Given the description of an element on the screen output the (x, y) to click on. 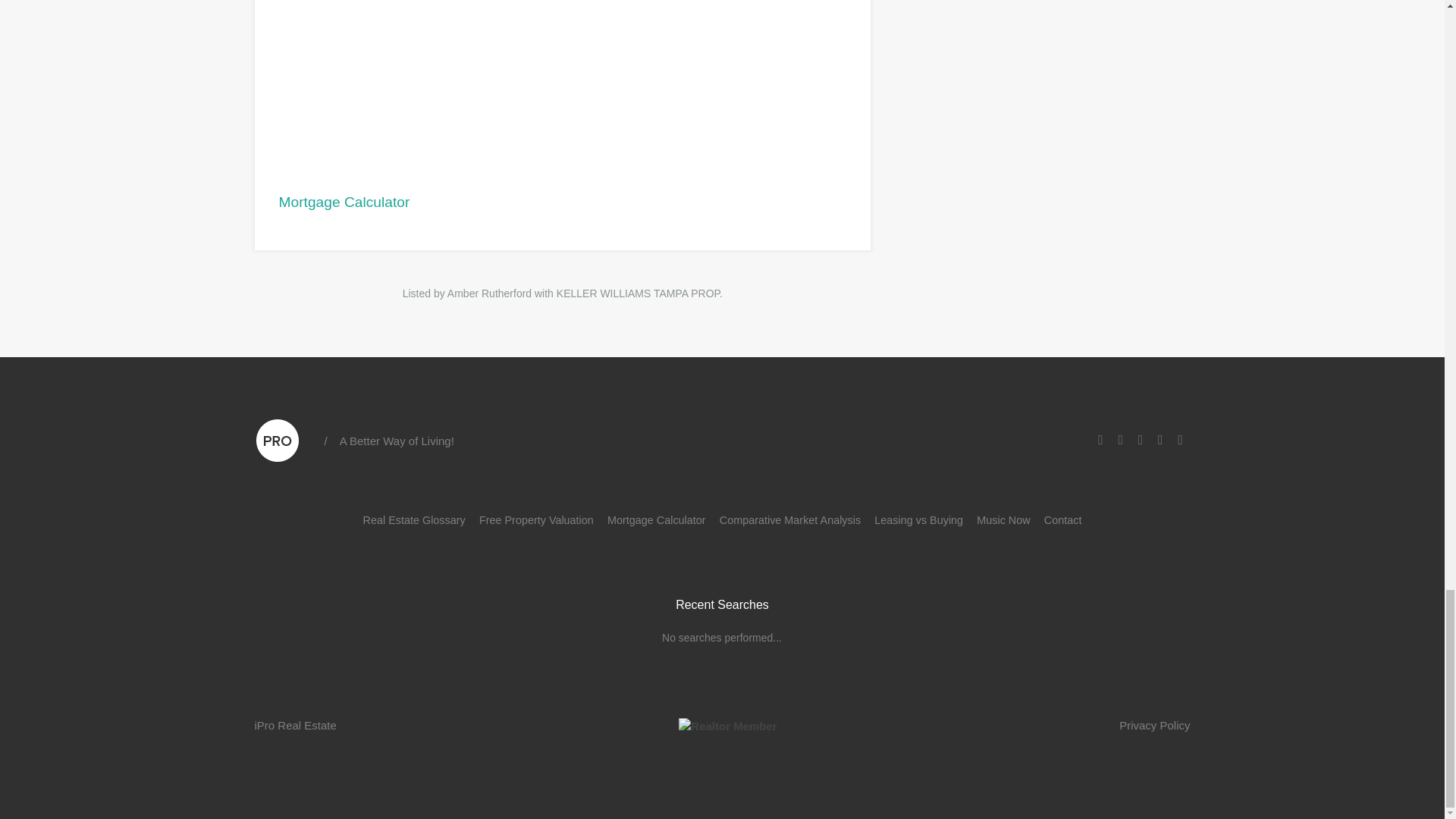
Facebook (1099, 439)
Instagram (1140, 439)
Linked-In (1120, 439)
RSS Feed (1179, 439)
YouTube (1160, 439)
